Given the description of an element on the screen output the (x, y) to click on. 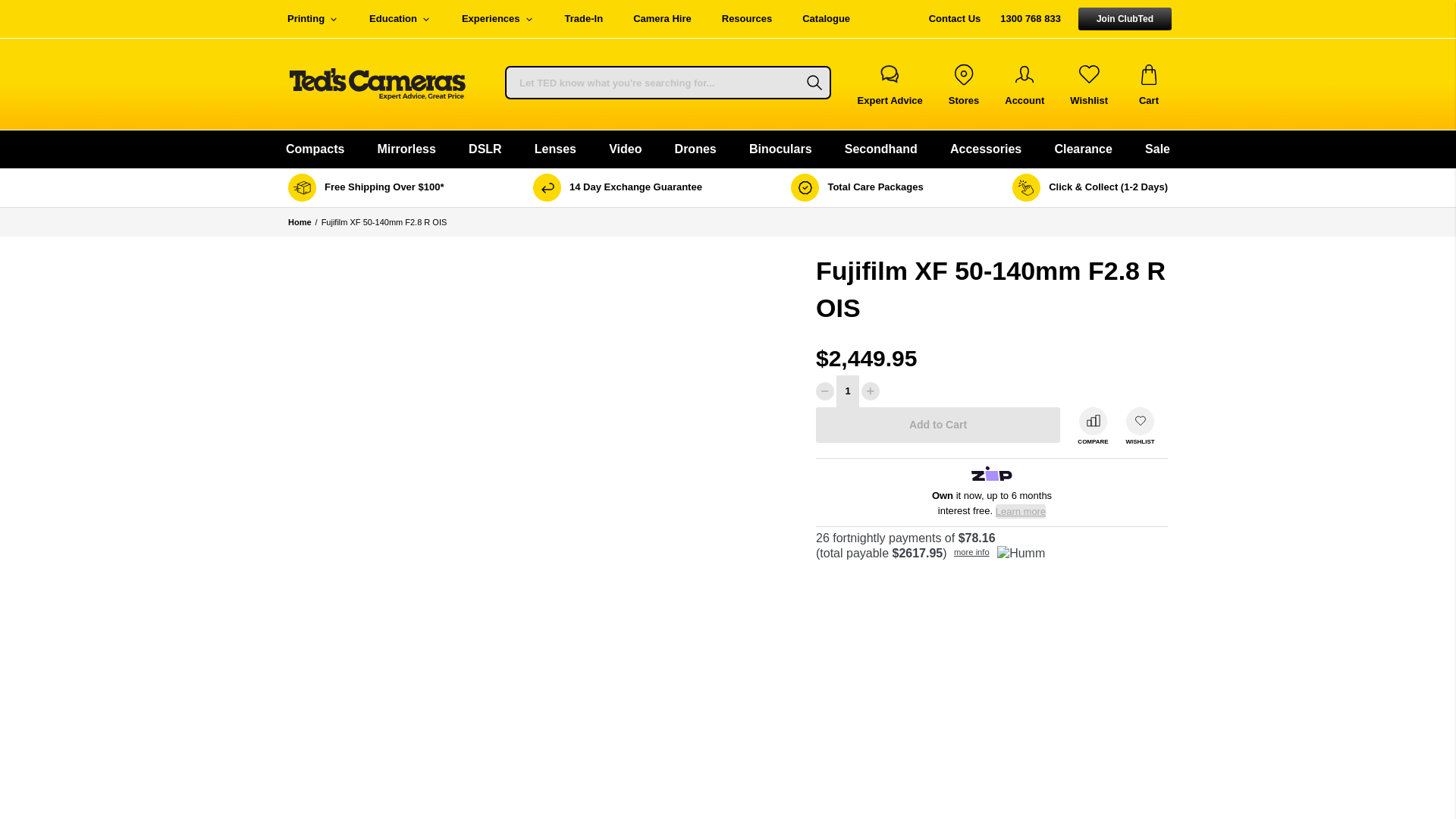
Chat with us (890, 83)
Camera Hire (661, 18)
Resources (746, 18)
Expert Advice (890, 83)
1300 768 833 (1030, 18)
Trade-In (584, 18)
Printing (312, 18)
Contact Us (954, 18)
Join ClubTed (1125, 18)
Experiences (498, 18)
